Given the description of an element on the screen output the (x, y) to click on. 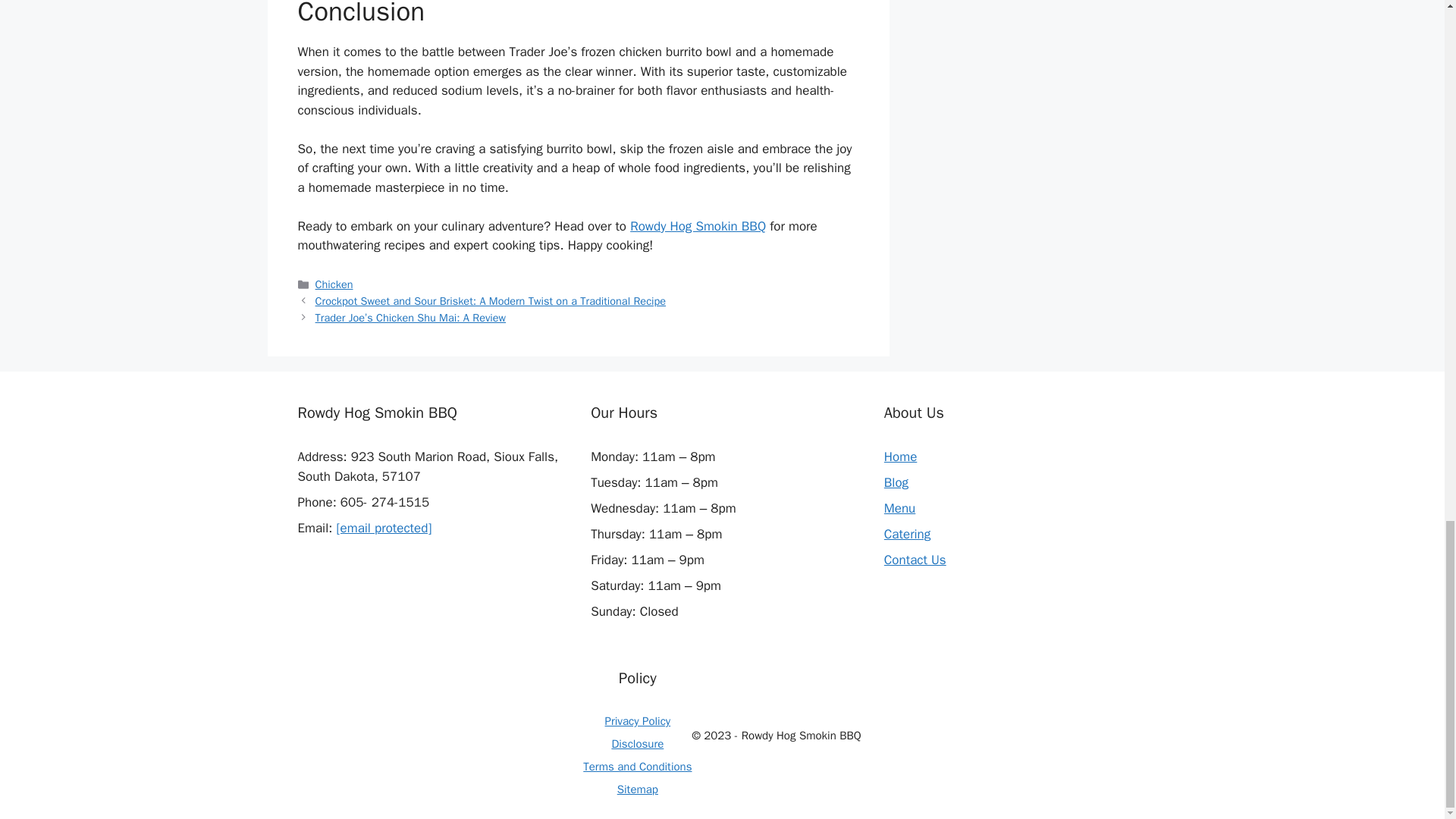
Menu (899, 508)
Privacy Policy (638, 721)
Home (900, 456)
Chicken (334, 284)
Blog (895, 482)
Sitemap (637, 789)
Catering (906, 534)
Terms and Conditions (637, 766)
Disclosure (637, 744)
